Given the description of an element on the screen output the (x, y) to click on. 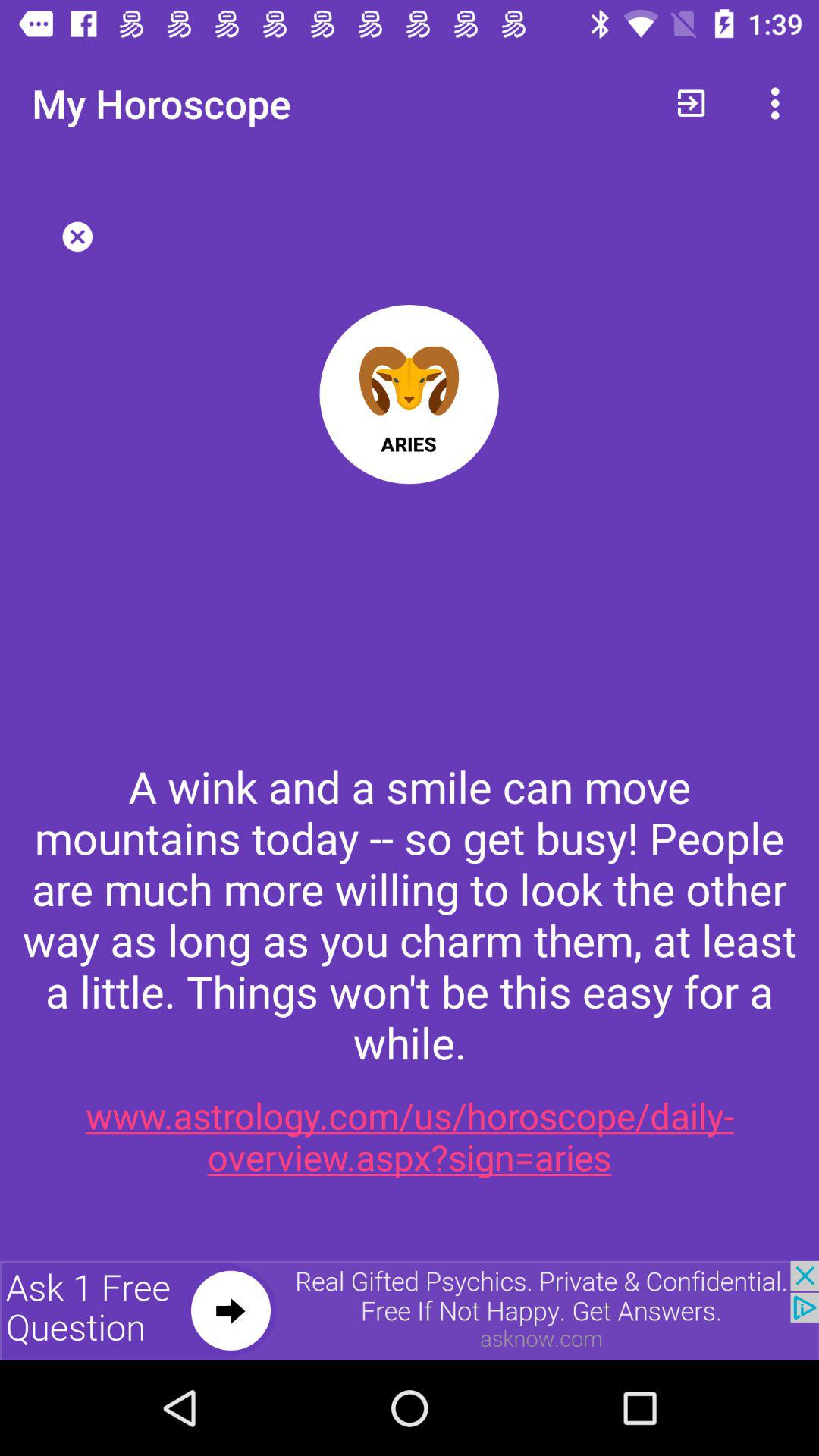
close the page (77, 236)
